Given the description of an element on the screen output the (x, y) to click on. 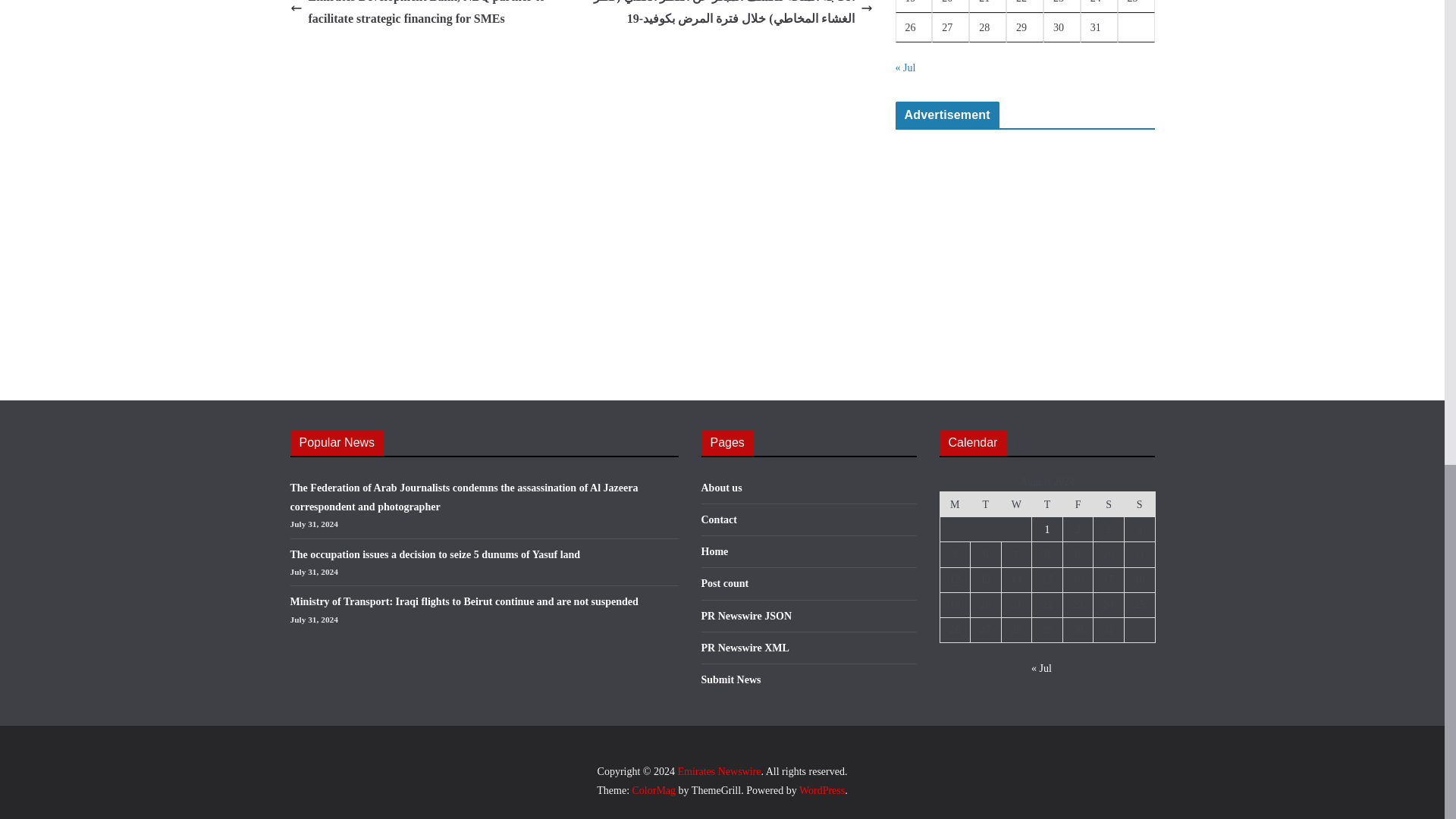
Thursday (1047, 504)
Wednesday (1016, 504)
Monday (955, 504)
Tuesday (986, 504)
